Given the description of an element on the screen output the (x, y) to click on. 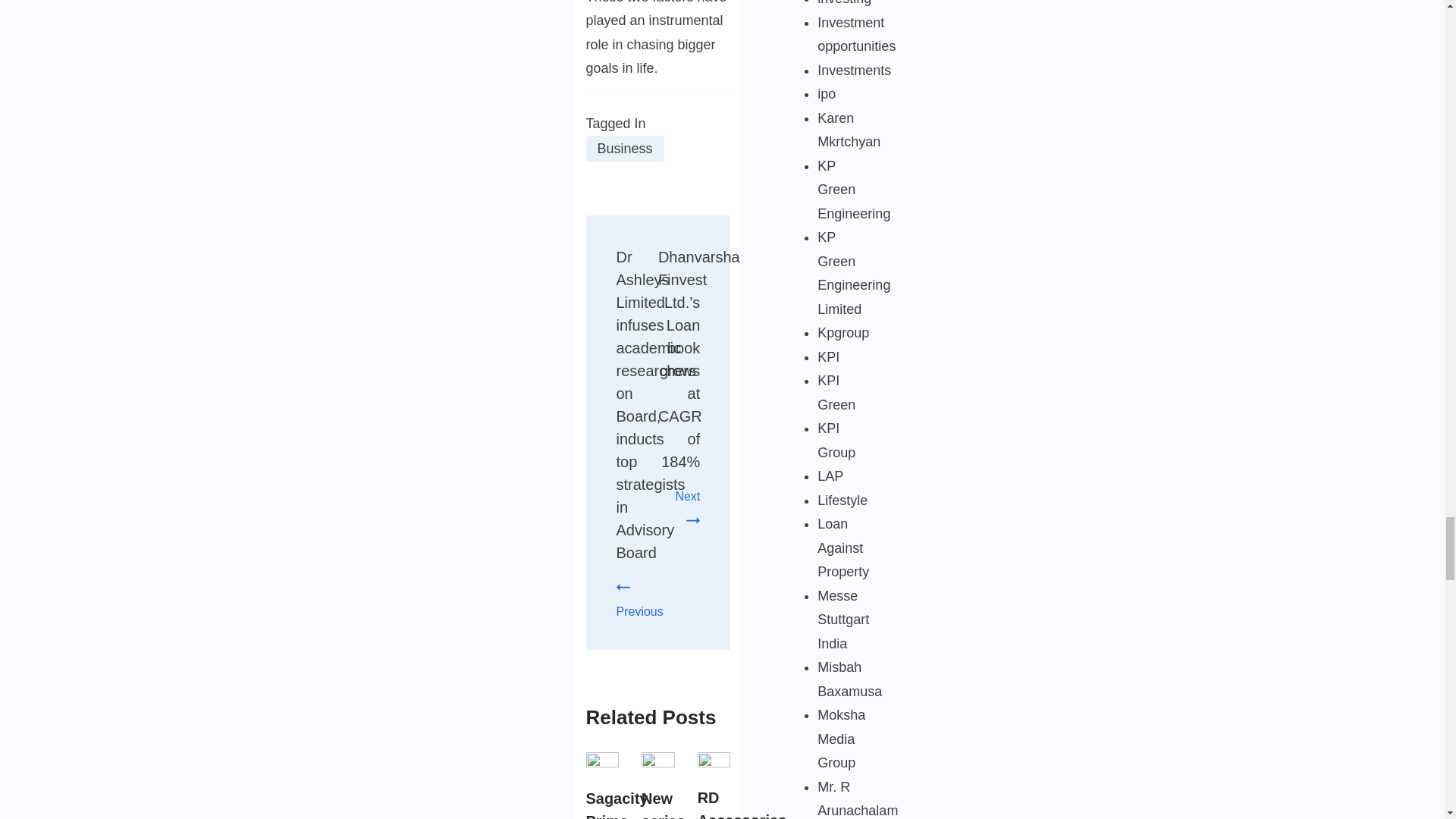
Business (624, 148)
Previous (638, 599)
